Given the description of an element on the screen output the (x, y) to click on. 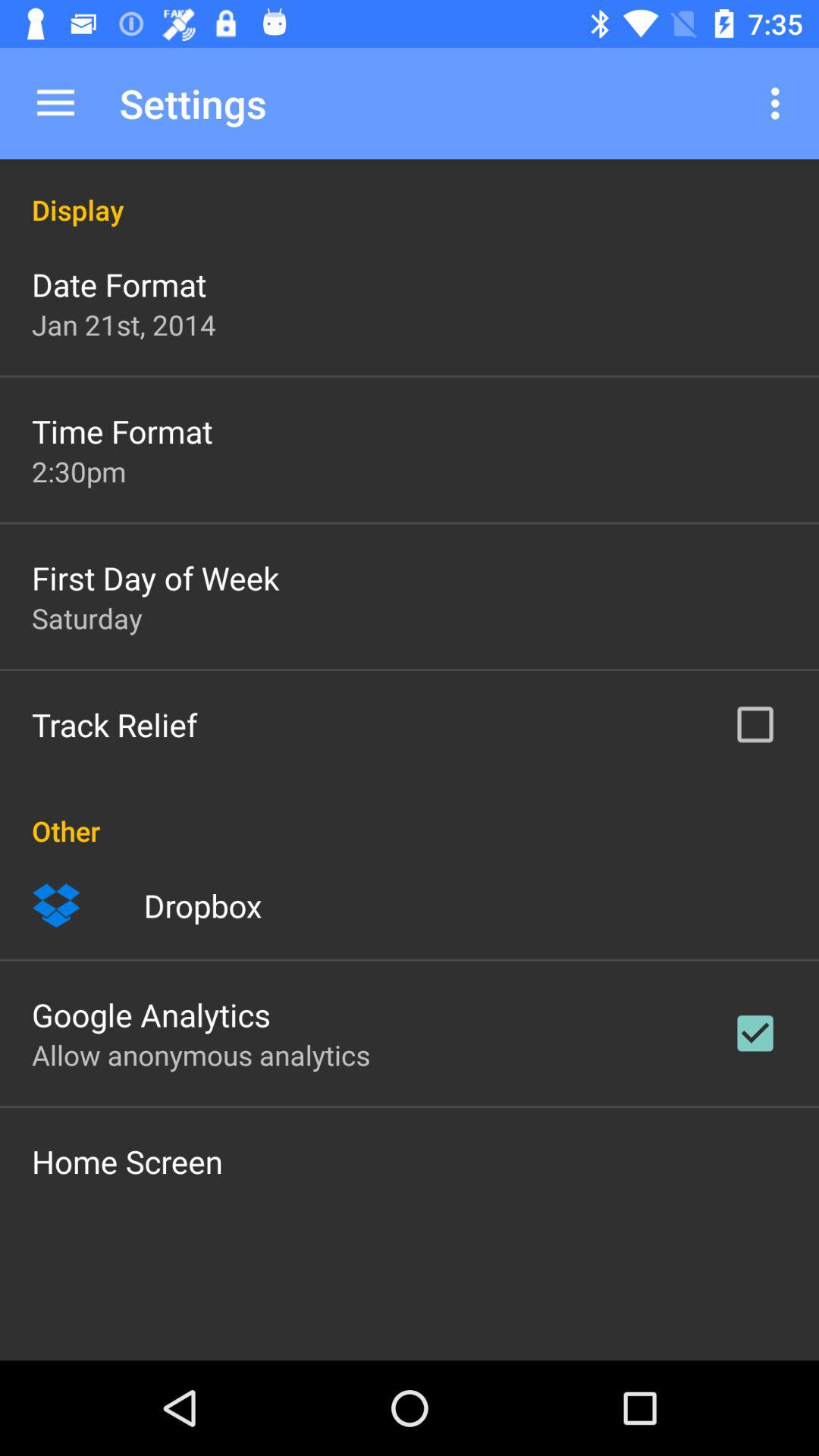
tap app above first day of icon (78, 471)
